Given the description of an element on the screen output the (x, y) to click on. 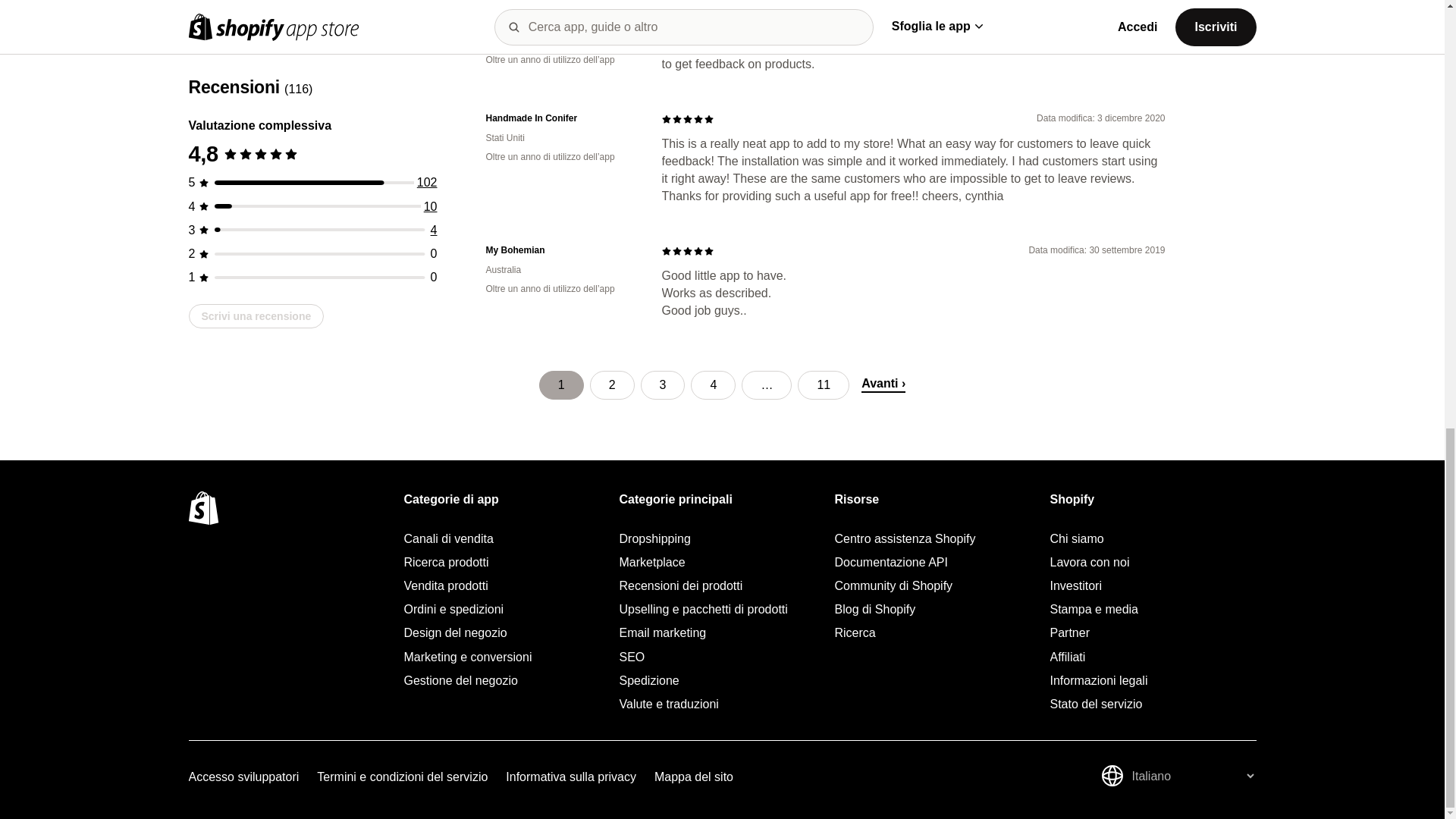
irinnadesign (560, 21)
My Bohemian (560, 250)
Handmade In Conifer (560, 118)
